Given the description of an element on the screen output the (x, y) to click on. 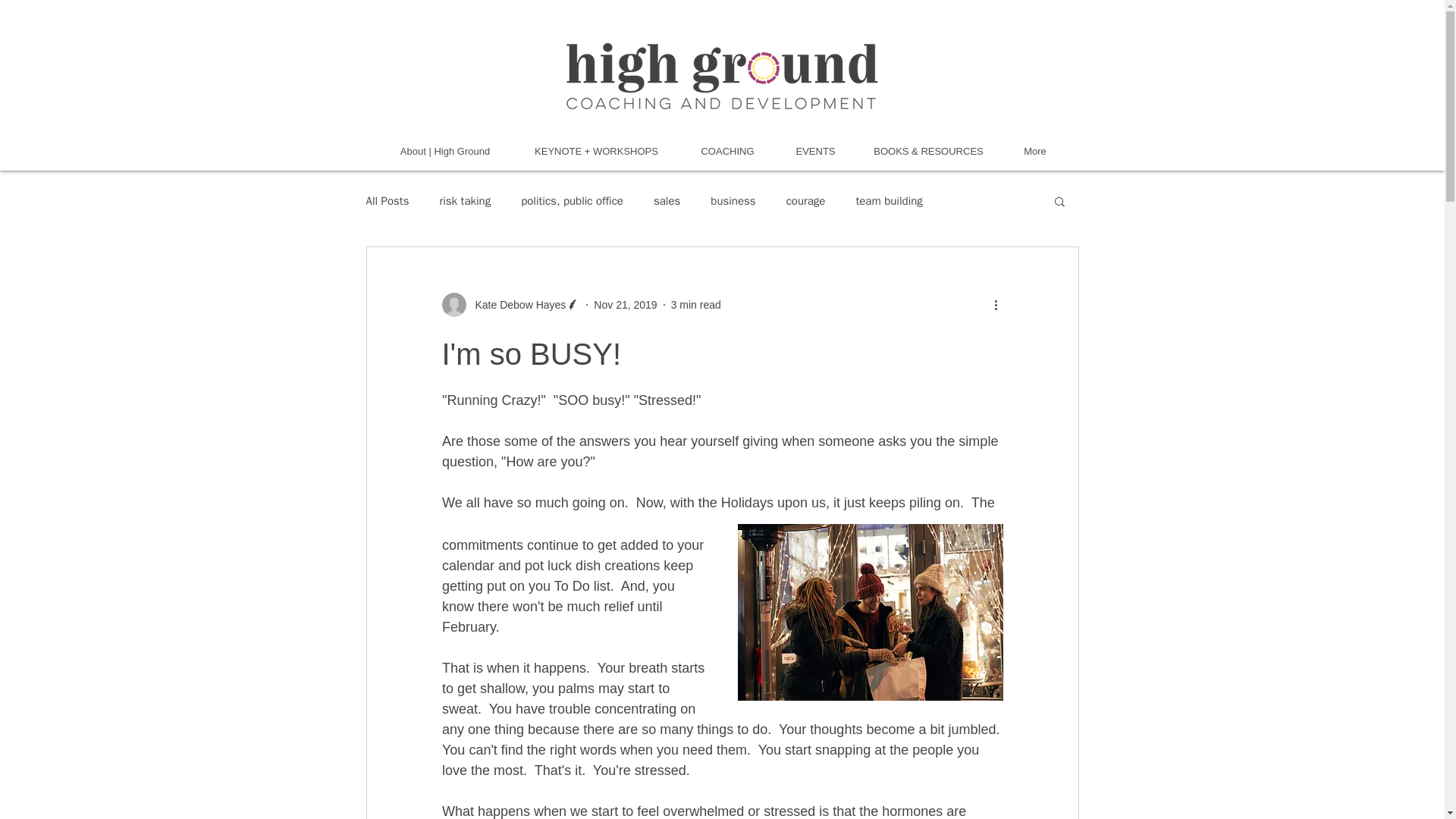
EVENTS (816, 151)
COACHING (727, 151)
politics, public office (572, 201)
All Posts (387, 201)
Kate Debow Hayes (515, 304)
Nov 21, 2019 (625, 304)
team building (888, 201)
business (732, 201)
Kate Debow Hayes (510, 304)
courage (805, 201)
risk taking (464, 201)
sales (666, 201)
3 min read (695, 304)
